Given the description of an element on the screen output the (x, y) to click on. 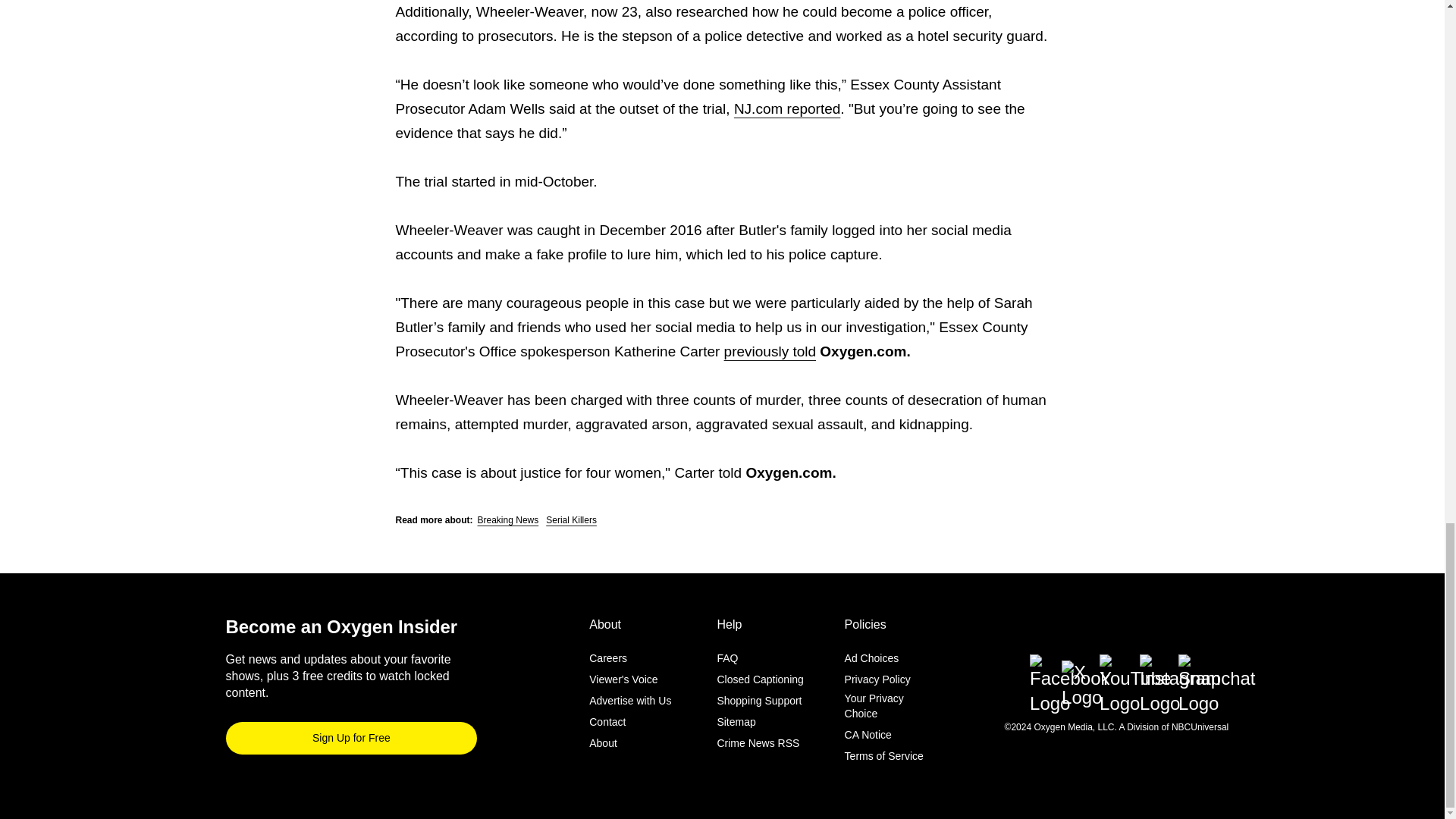
NJ.com reported (786, 108)
Advertise with Us (630, 701)
Serial Killers (571, 520)
previously told (769, 351)
Breaking News (507, 520)
